Given the description of an element on the screen output the (x, y) to click on. 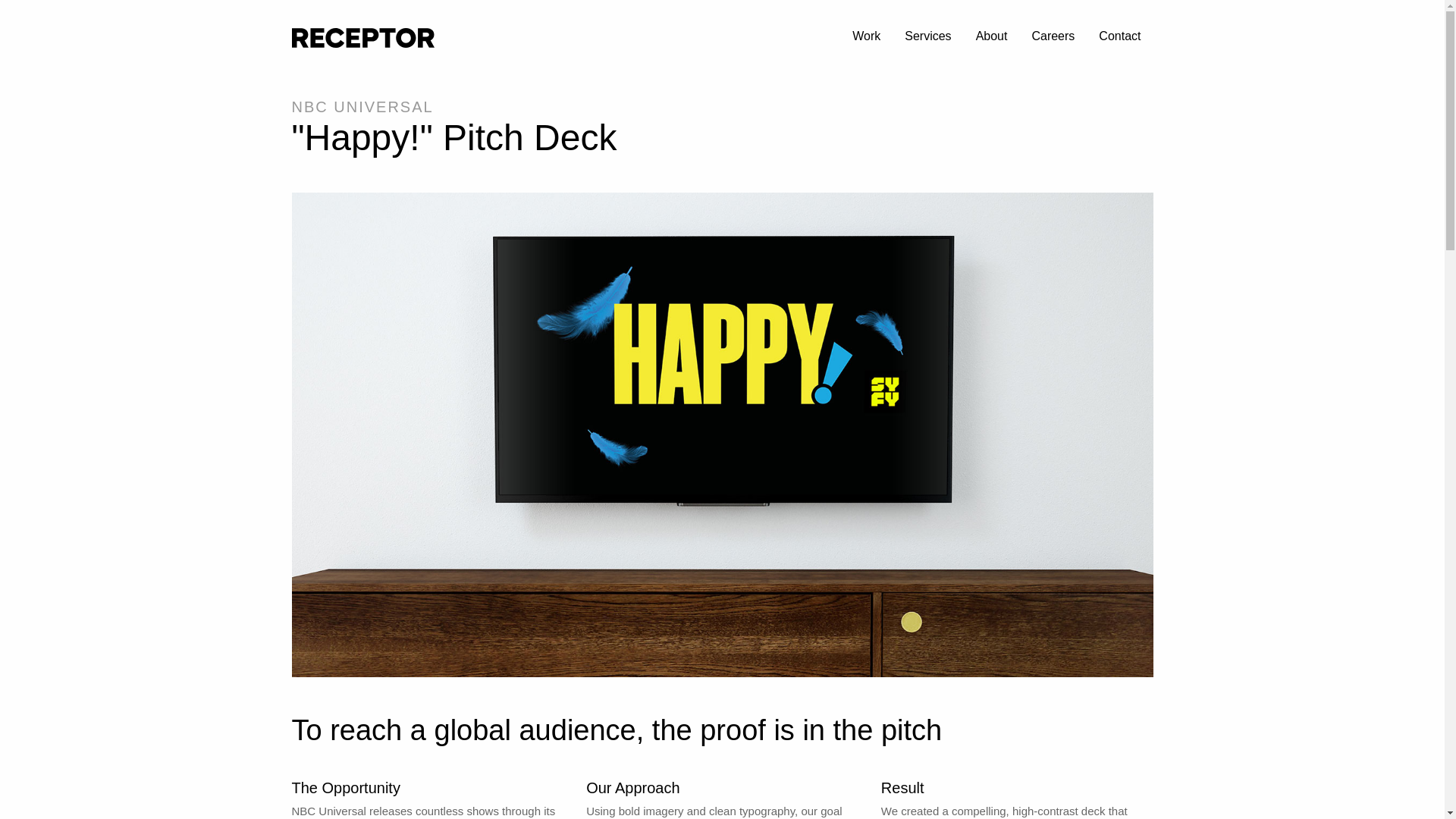
Careers (1052, 38)
About (991, 38)
Work (866, 38)
Services (927, 38)
Contact (1119, 38)
